Given the description of an element on the screen output the (x, y) to click on. 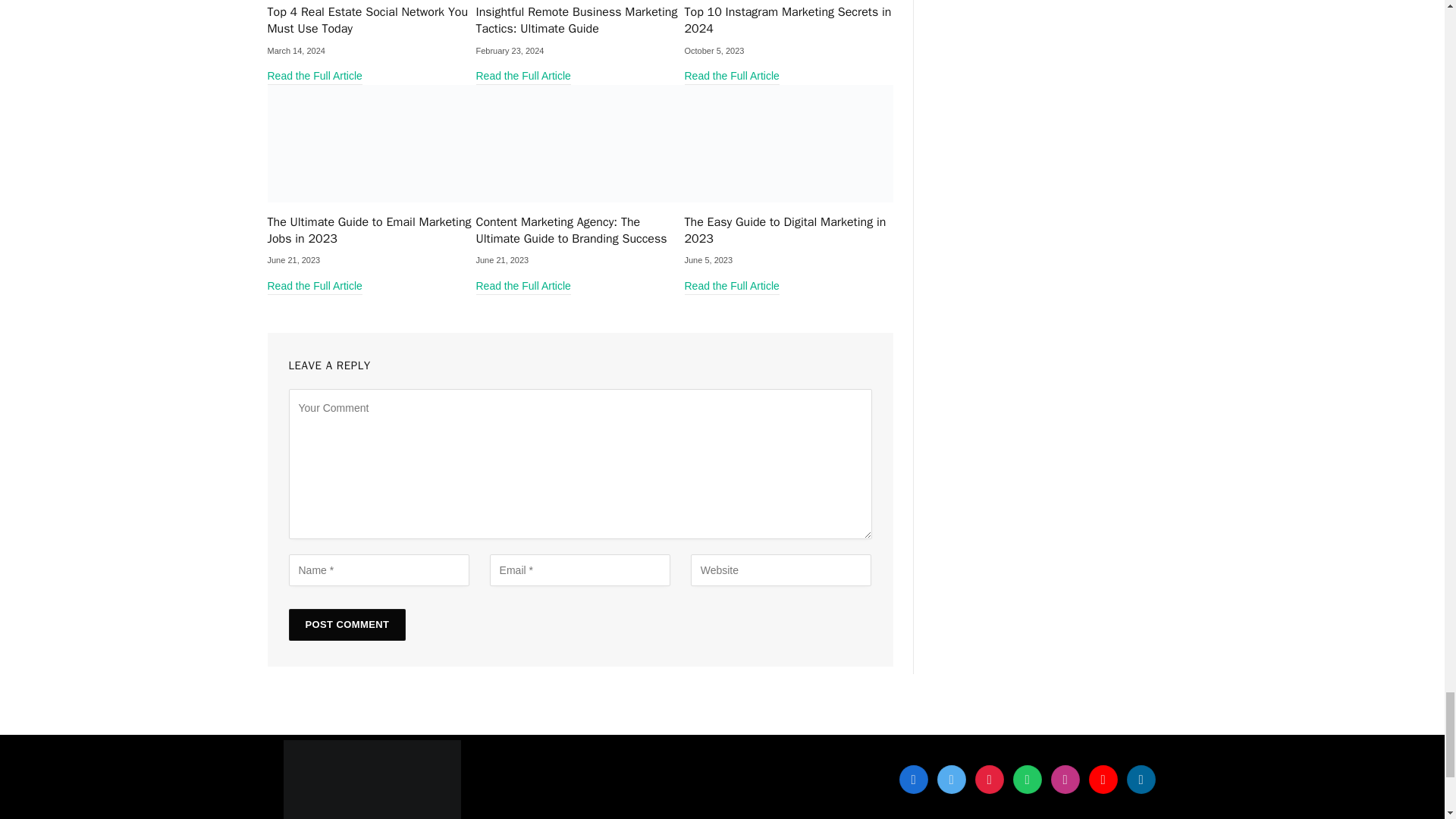
Post Comment (347, 624)
